Given the description of an element on the screen output the (x, y) to click on. 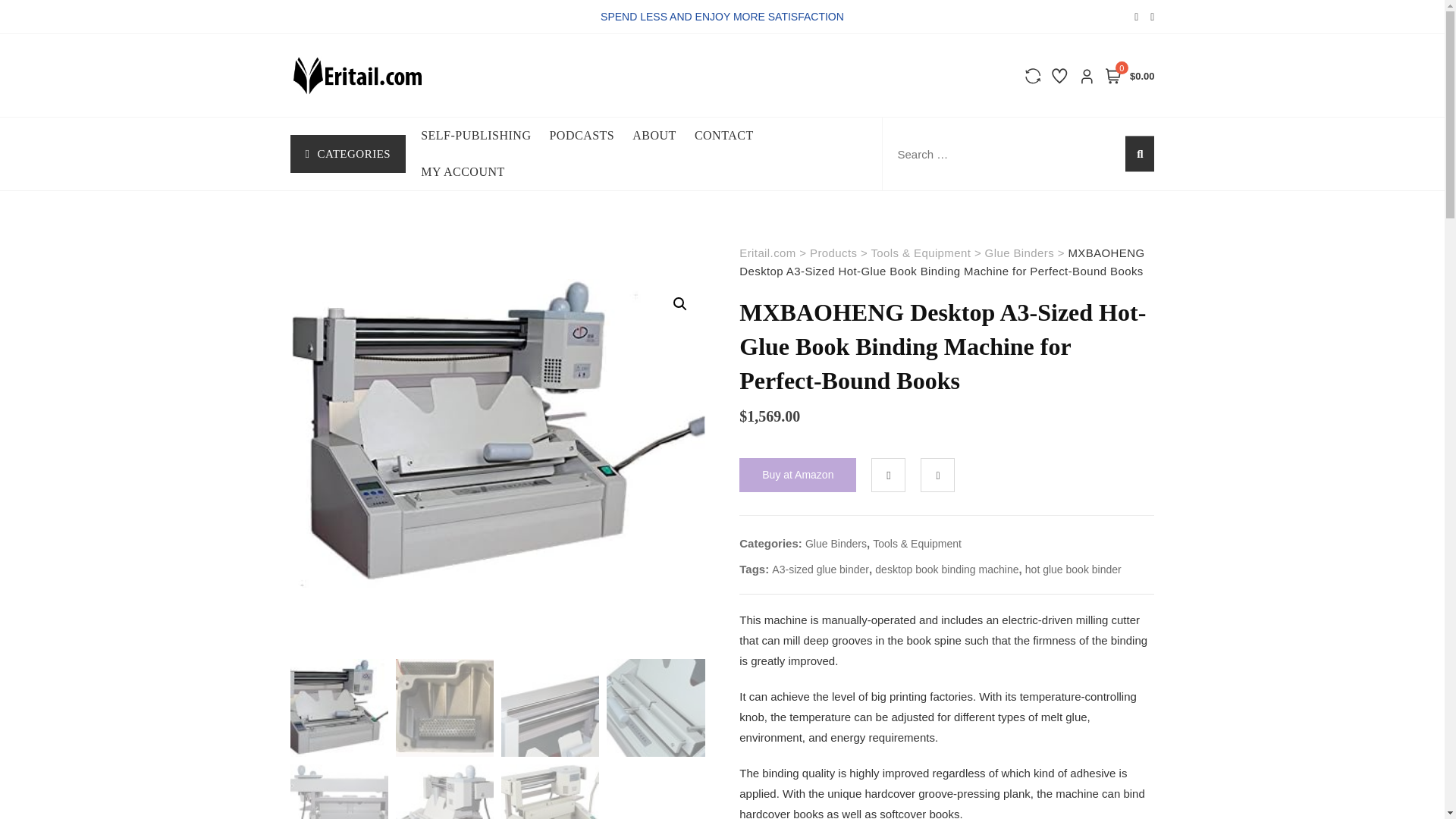
Go to Eritail.com. (766, 252)
SELF-PUBLISHING (484, 135)
PODCASTS (589, 135)
CONTACT (732, 135)
ABOUT (662, 135)
Go to the Glue Binders Category archives. (1019, 252)
Go to Products. (833, 252)
CATEGORIES (347, 153)
